Given the description of an element on the screen output the (x, y) to click on. 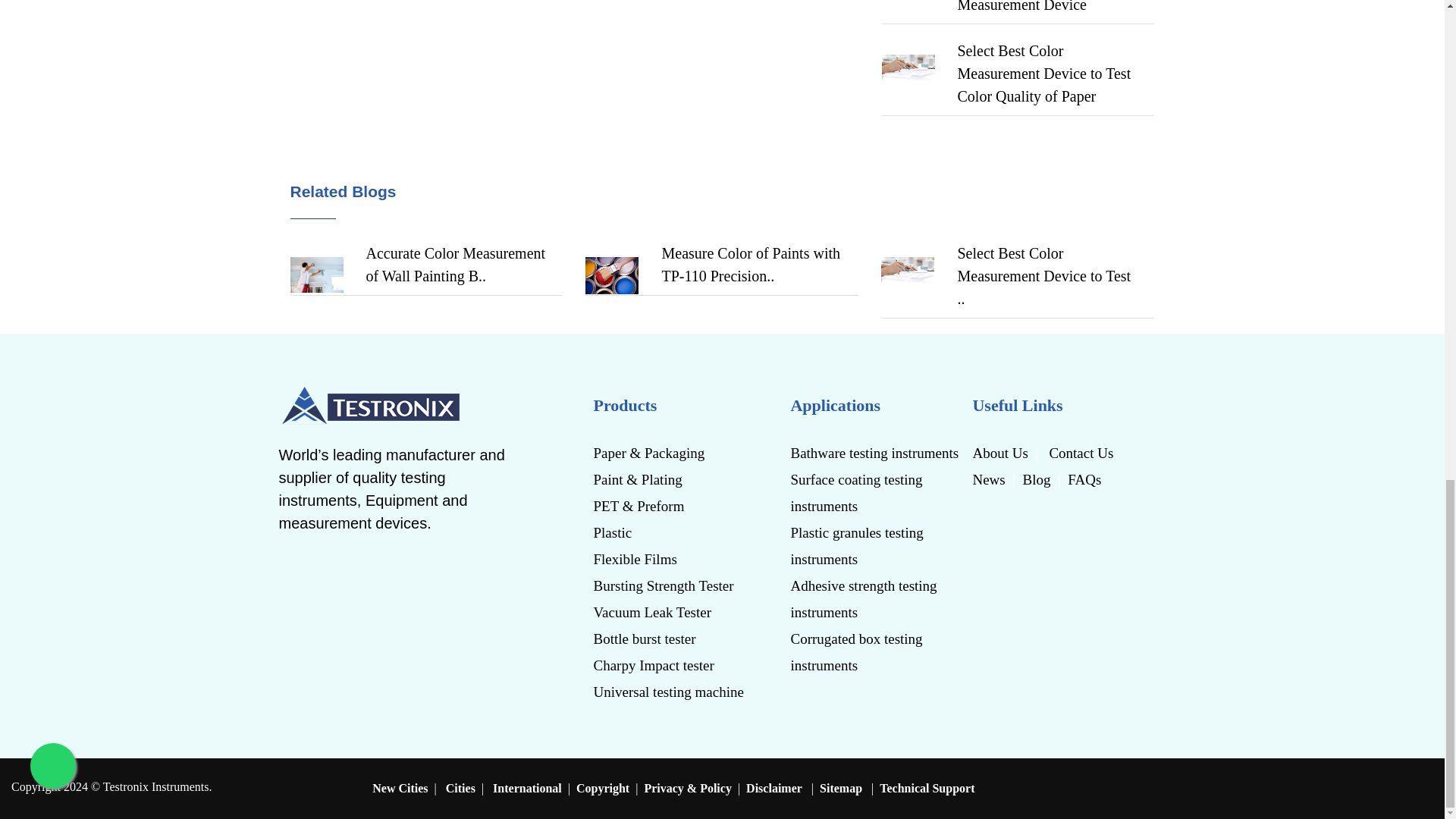
Measure Color of Paints with TP-110 Precision.. (454, 264)
Bottle burst tester (673, 638)
Plastic (673, 532)
Charpy Impact tester (673, 664)
Flexible Films (673, 559)
Vacuum Leak Tester (673, 611)
Applications (875, 405)
Accurate Color Measurement of Wall Painting B.. (751, 264)
Universal testing machine (673, 691)
Bathware testing instruments (875, 452)
